Given the description of an element on the screen output the (x, y) to click on. 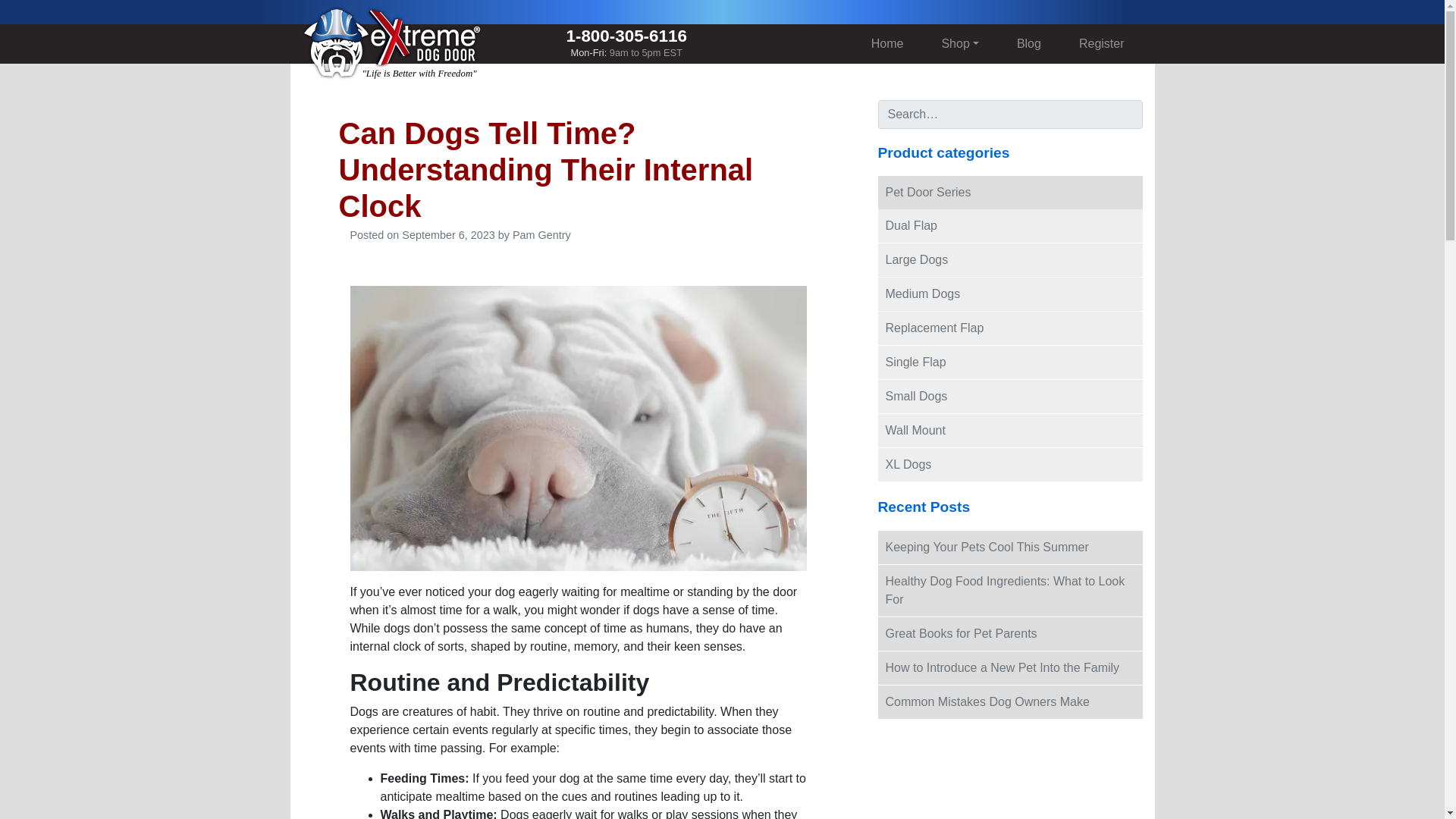
Single Flap (1009, 362)
Pam Gentry (541, 234)
Blog (1028, 43)
Great Books for Pet Parents (1009, 633)
September 6, 2023 (448, 234)
Healthy Dog Food Ingredients: What to Look For (1009, 590)
Dual Flap (1009, 225)
Wall Mount (1009, 430)
Pet Door Series (1009, 192)
Large Dogs (1009, 259)
Register (1100, 43)
Keeping Your Pets Cool This Summer (1009, 547)
Medium Dogs (1009, 294)
XL Dogs (625, 45)
